Given the description of an element on the screen output the (x, y) to click on. 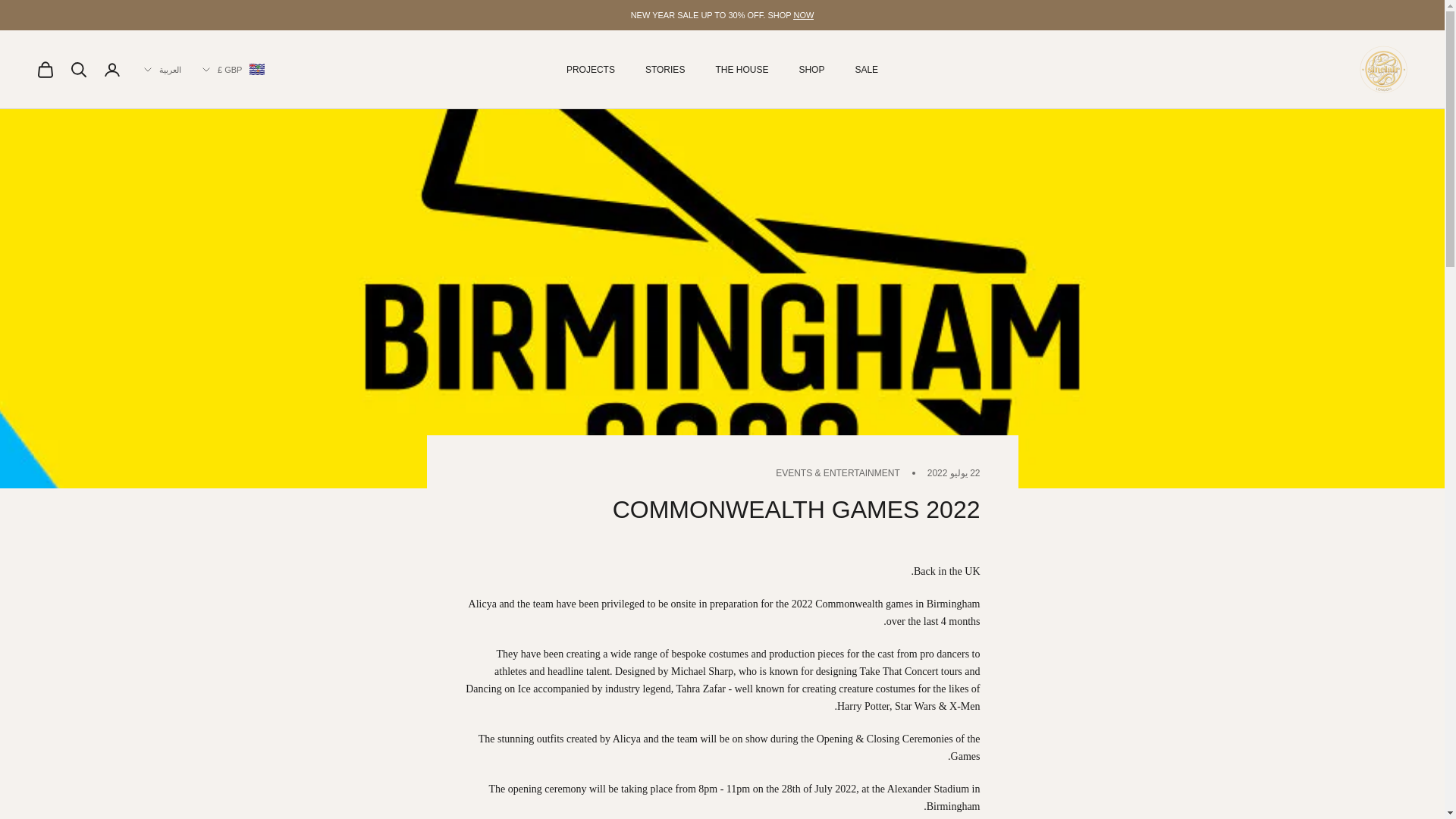
Sinclair London (1382, 69)
Sale (803, 14)
NOW (803, 14)
SALE (865, 69)
